Given the description of an element on the screen output the (x, y) to click on. 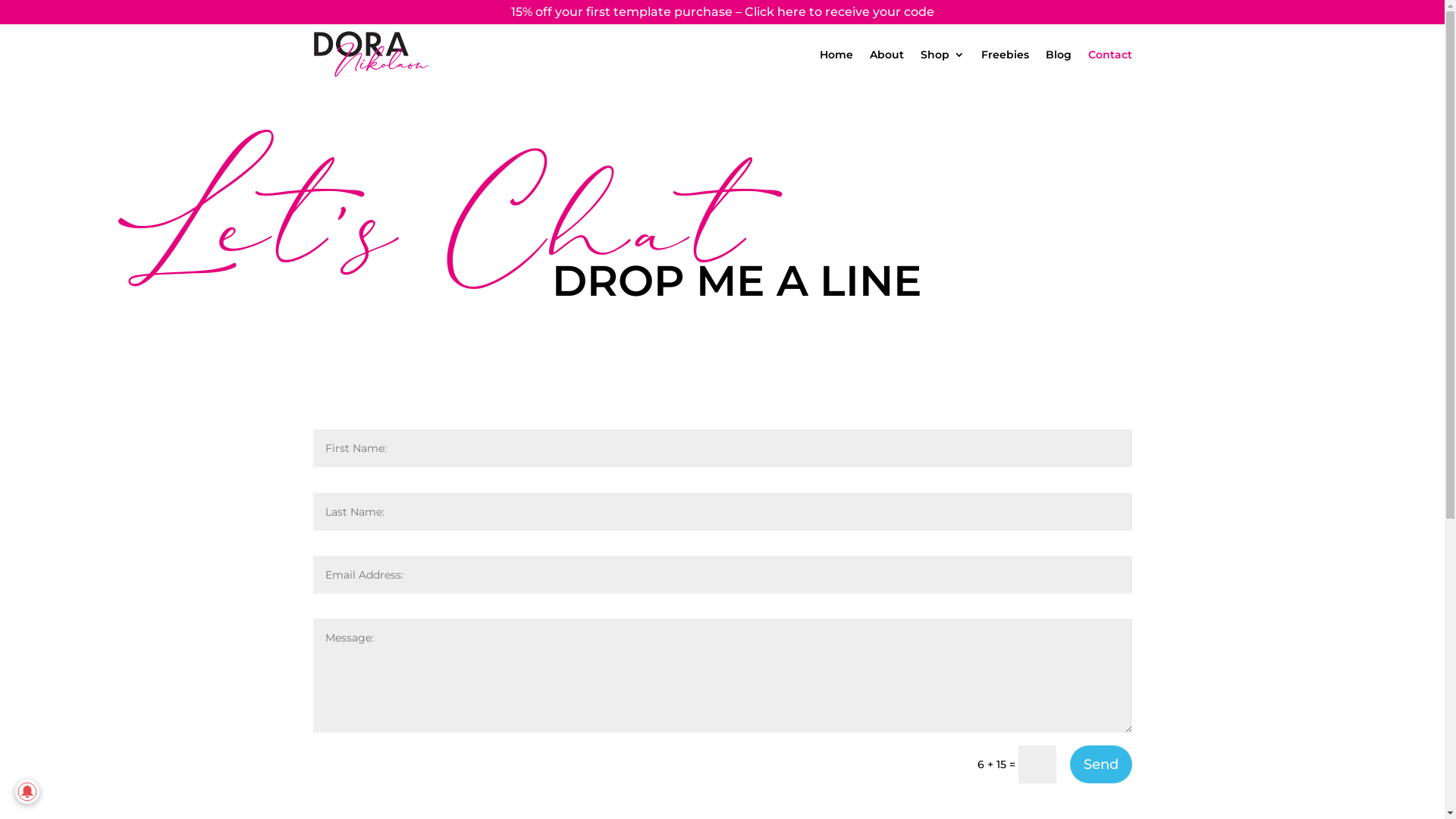
Contact Element type: text (1109, 54)
About Element type: text (886, 54)
Shop Element type: text (942, 54)
Send Element type: text (1100, 764)
Freebies Element type: text (1005, 54)
Blog Element type: text (1057, 54)
Home Element type: text (835, 54)
